Given the description of an element on the screen output the (x, y) to click on. 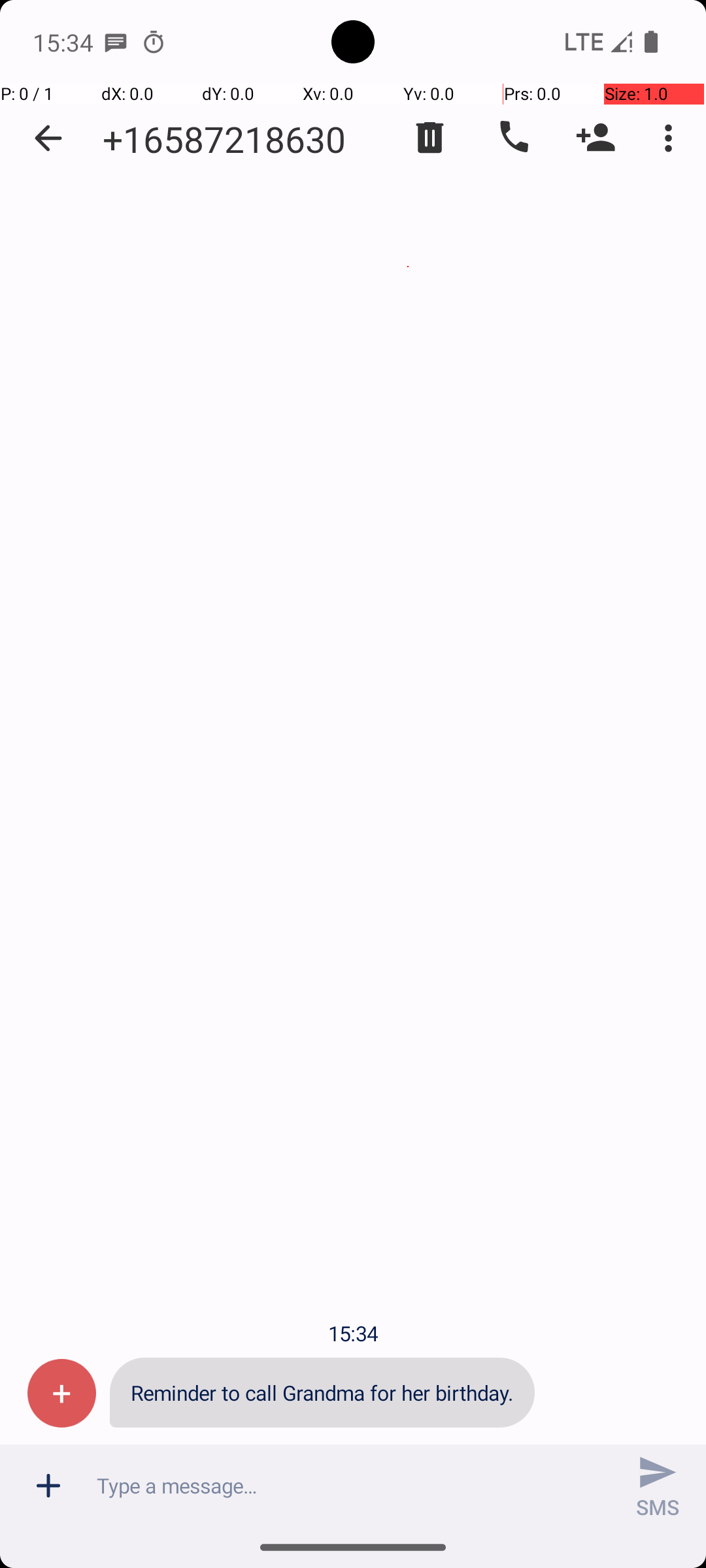
+16587218630 Element type: android.widget.TextView (223, 138)
Reminder to call Grandma for her birthday. Element type: android.widget.TextView (321, 1392)
